Given the description of an element on the screen output the (x, y) to click on. 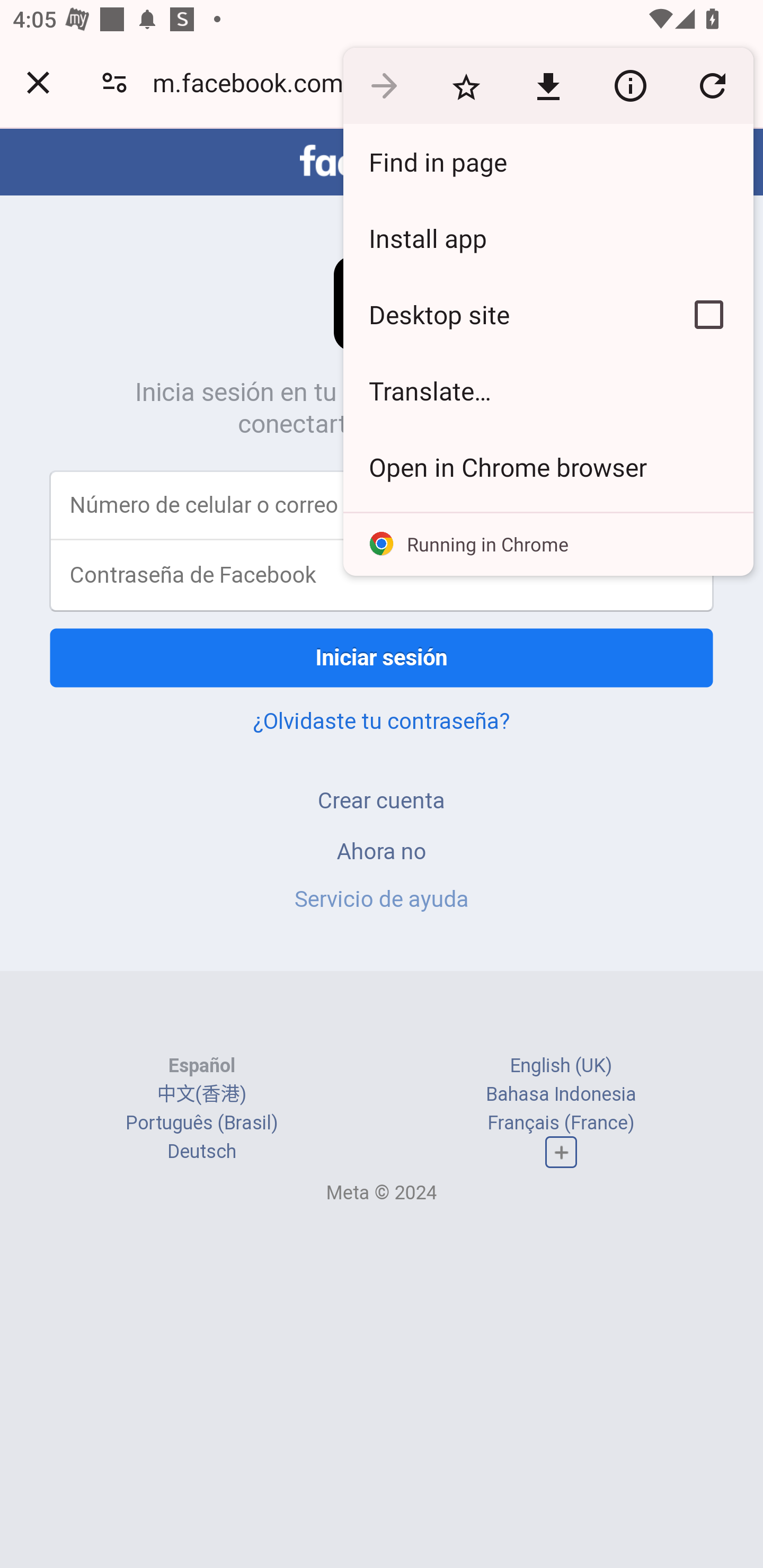
Go forward (383, 85)
Bookmark (465, 85)
Download this page (548, 85)
View site information (630, 85)
Refresh (712, 85)
Find in page (548, 161)
Install app (548, 237)
Desktop site Turn on Request desktop site (503, 313)
Translate… (548, 390)
Open in Chrome browser (548, 466)
